Given the description of an element on the screen output the (x, y) to click on. 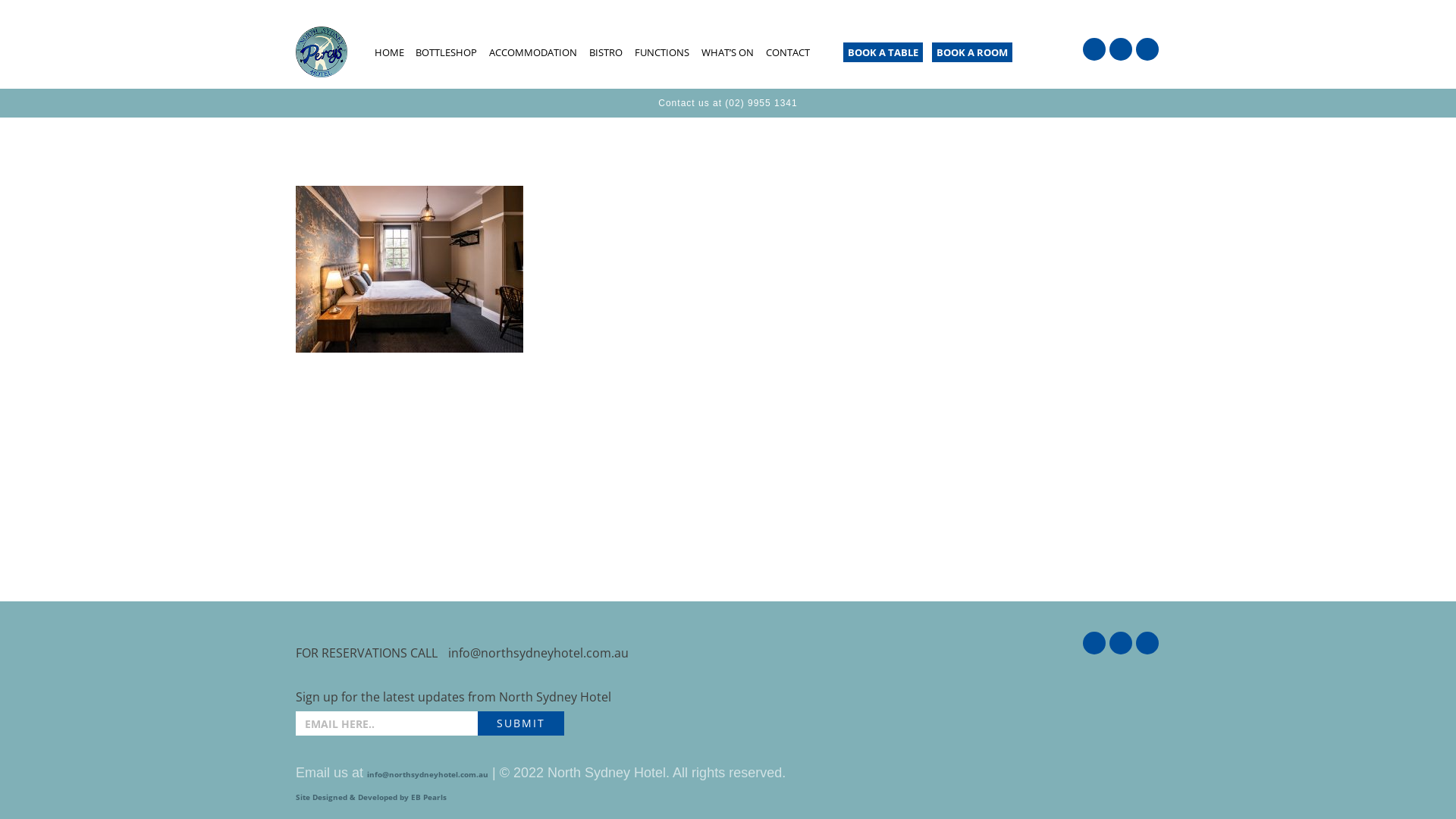
CONTACT Element type: text (787, 53)
HOME Element type: text (389, 53)
FUNCTIONS Element type: text (661, 53)
info@northsydneyhotel.com.au Element type: text (427, 773)
BOTTLESHOP Element type: text (445, 53)
BOOK A TABLE Element type: text (882, 52)
BISTRO Element type: text (605, 53)
Submit Element type: text (520, 723)
Site Designed & Developed by EB Pearls Element type: text (370, 796)
BOOK A ROOM Element type: text (971, 52)
ACCOMMODATION Element type: text (533, 53)
